Given the description of an element on the screen output the (x, y) to click on. 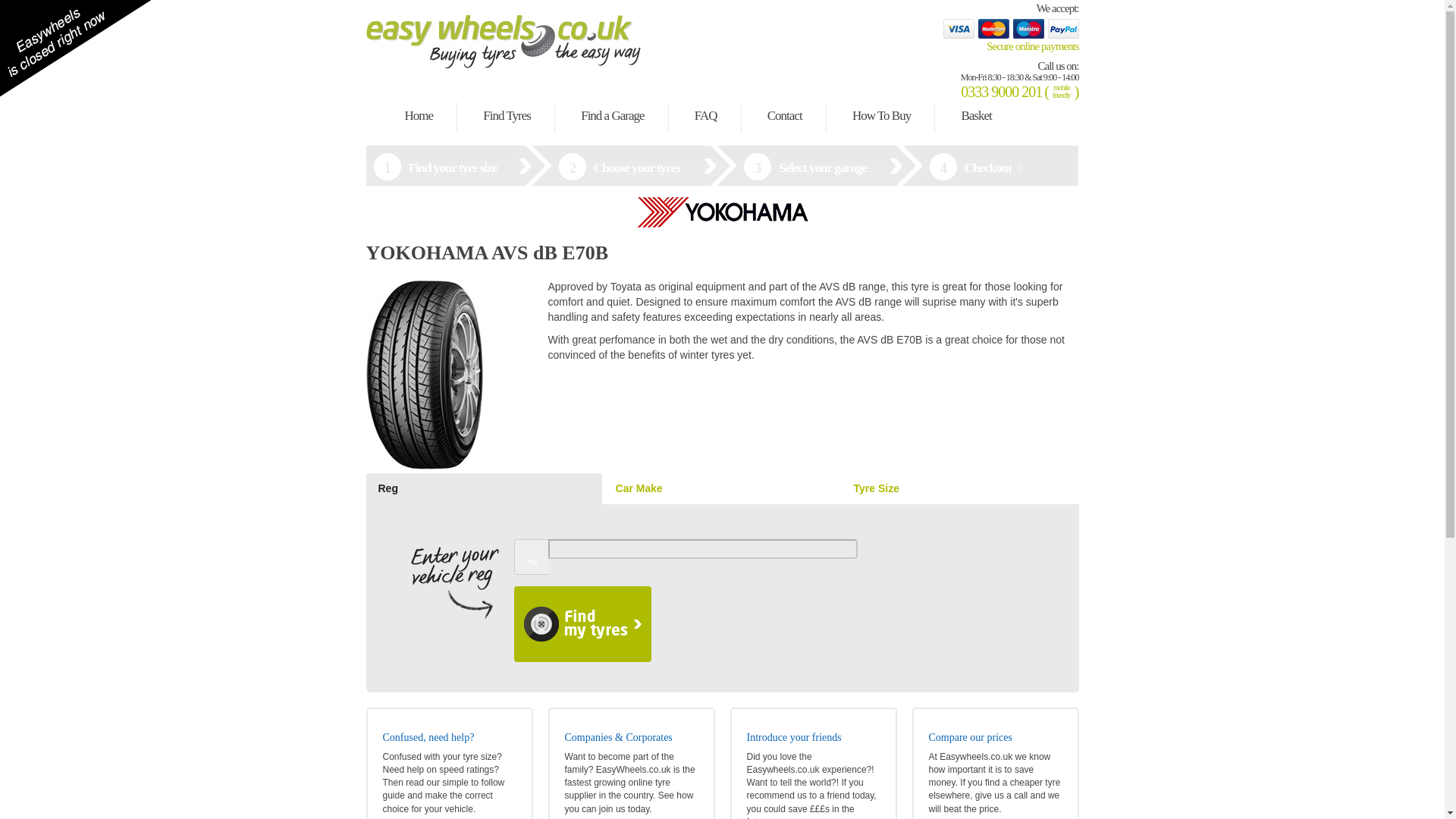
Home (418, 116)
Basket (975, 116)
Contact (784, 116)
Find Tyres (507, 116)
Find a Garage (611, 116)
How To Buy (881, 116)
Reg (483, 489)
FAQ (706, 116)
Car Make (722, 489)
Tyre Size (959, 489)
